Given the description of an element on the screen output the (x, y) to click on. 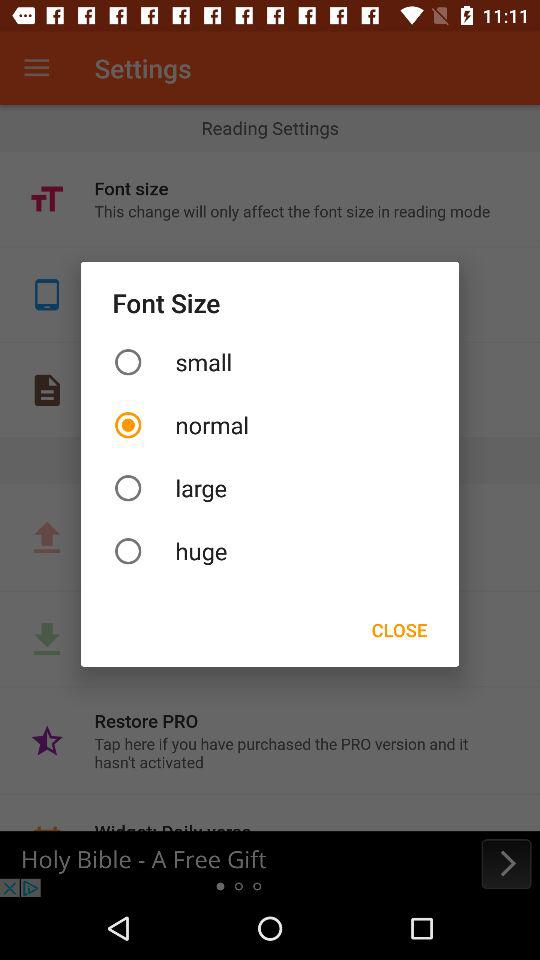
jump to close item (399, 629)
